Given the description of an element on the screen output the (x, y) to click on. 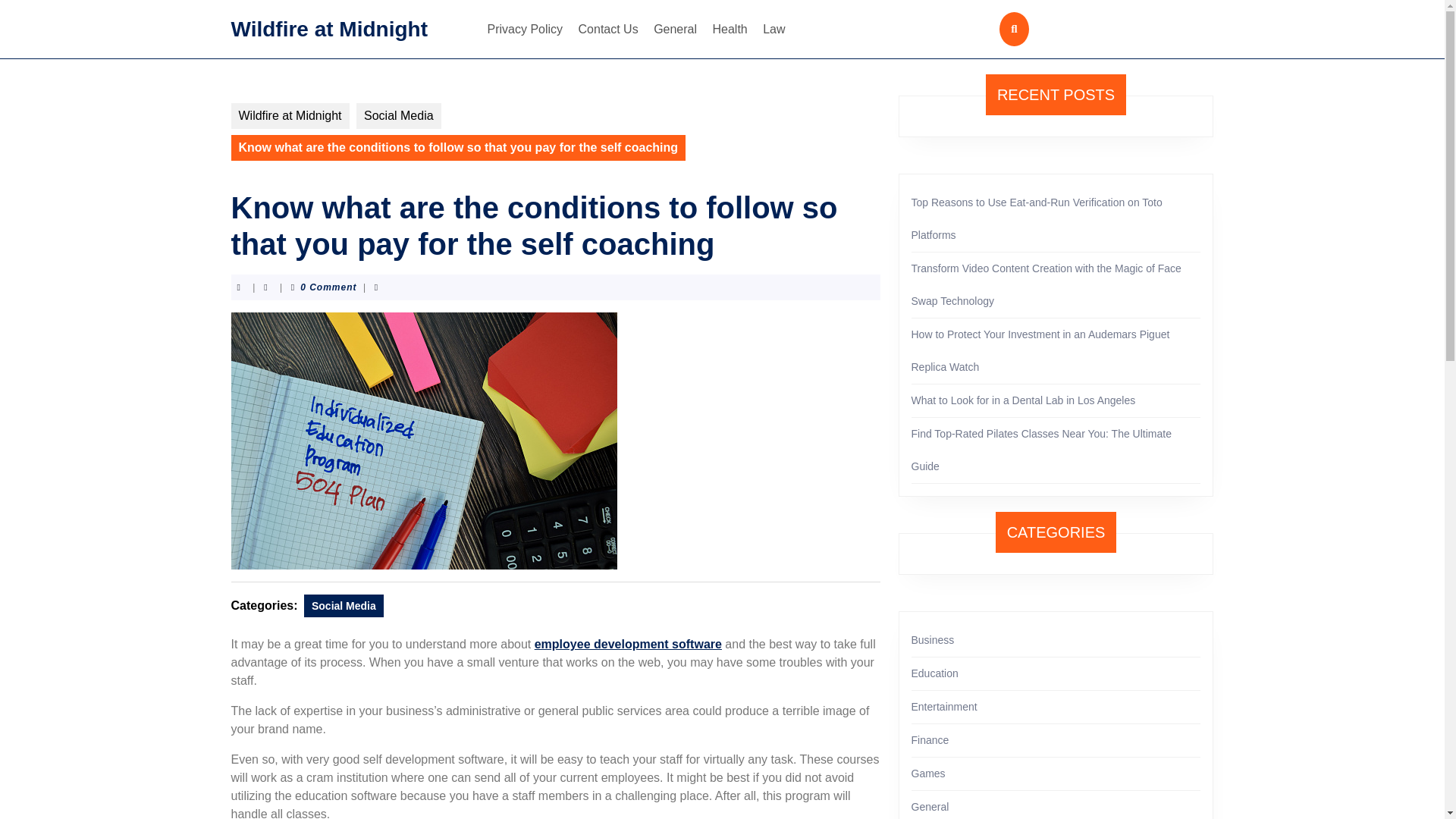
Wildfire at Midnight (329, 28)
employee development software (628, 644)
Law (773, 28)
Business (933, 639)
Find Top-Rated Pilates Classes Near You: The Ultimate Guide (1041, 449)
Contact Us (608, 28)
Social Media (398, 115)
What to Look for in a Dental Lab in Los Angeles (1023, 399)
Wildfire at Midnight (289, 115)
